Given the description of an element on the screen output the (x, y) to click on. 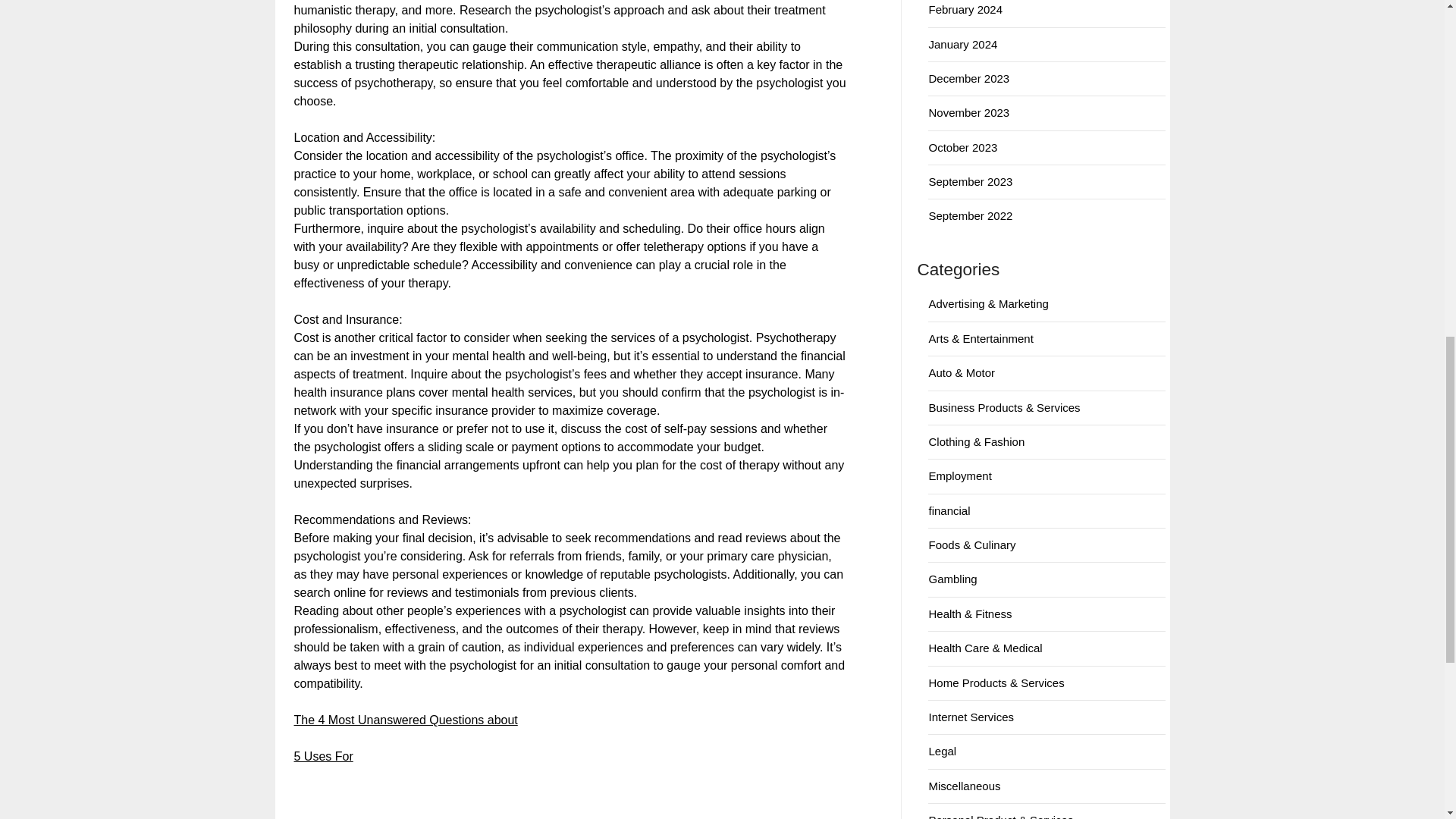
February 2024 (965, 9)
October 2023 (962, 146)
5 Uses For (323, 756)
Gambling (952, 578)
financial (948, 510)
September 2023 (969, 181)
January 2024 (962, 43)
December 2023 (968, 78)
September 2022 (969, 215)
Miscellaneous (964, 785)
Internet Services (970, 716)
The 4 Most Unanswered Questions about (406, 719)
Legal (942, 750)
Employment (959, 475)
November 2023 (968, 112)
